Given the description of an element on the screen output the (x, y) to click on. 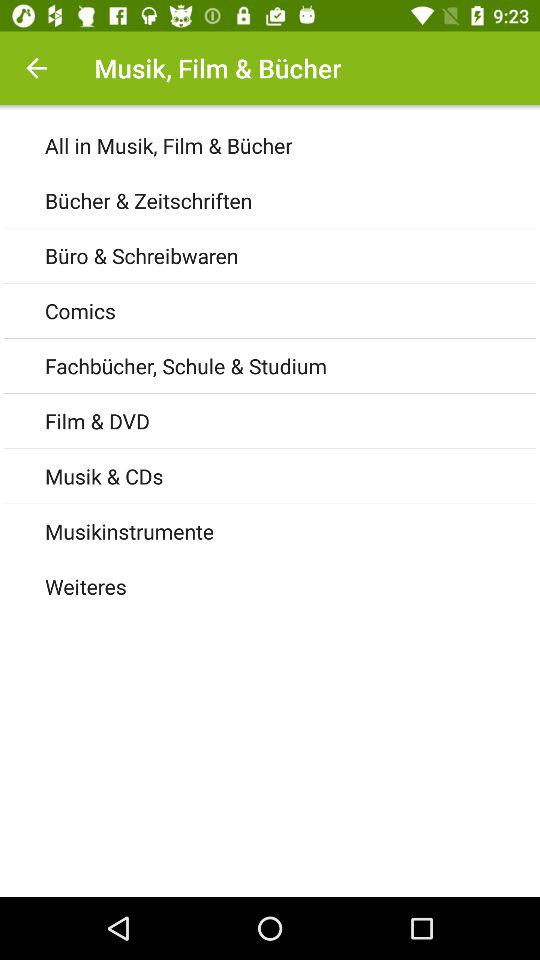
open the icon above the musik & cds (292, 420)
